Given the description of an element on the screen output the (x, y) to click on. 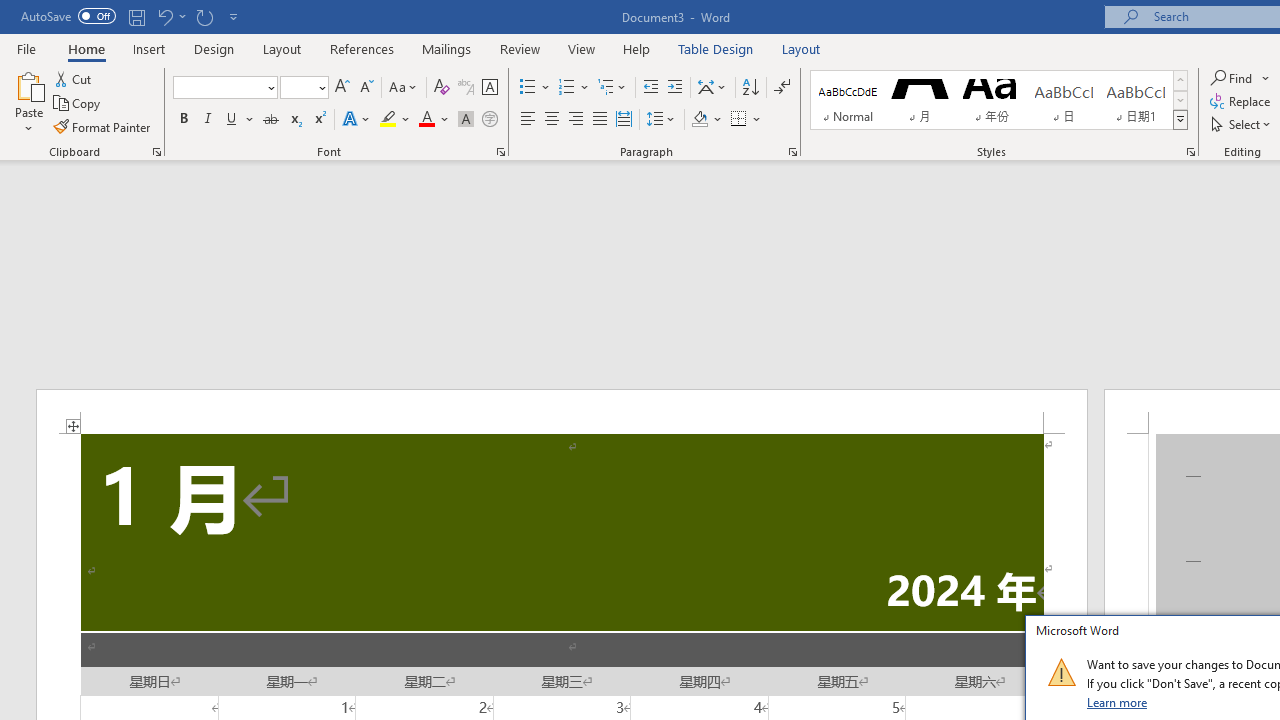
Align Left (527, 119)
Office Clipboard... (156, 151)
Sort... (750, 87)
Borders (739, 119)
Phonetic Guide... (465, 87)
Increase Indent (675, 87)
Design (214, 48)
Font (218, 87)
Change Case (404, 87)
Show/Hide Editing Marks (781, 87)
Header -Section 1- (561, 411)
Find (1240, 78)
Decrease Indent (650, 87)
System (10, 11)
